Given the description of an element on the screen output the (x, y) to click on. 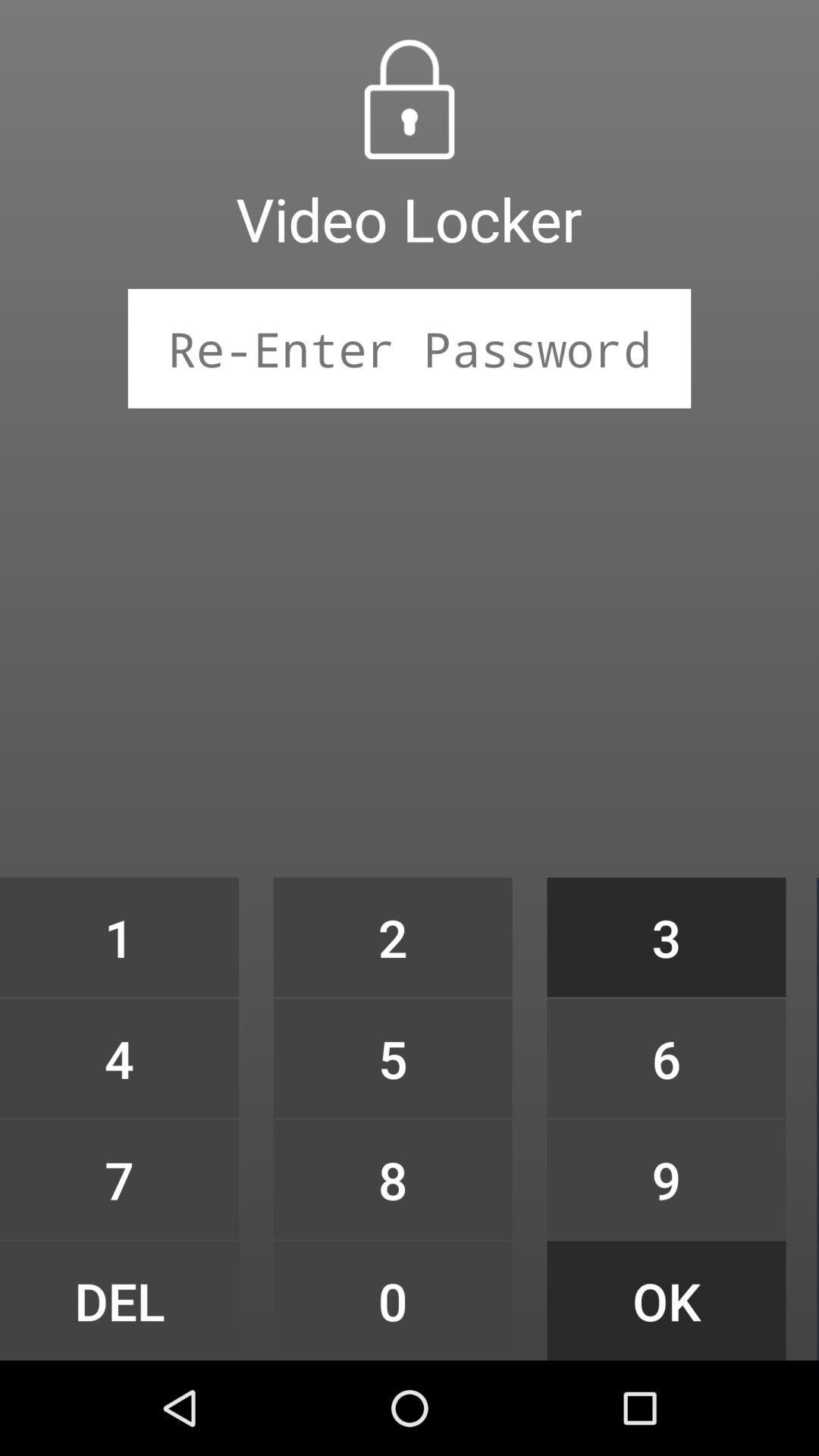
press icon to the left of the 9 icon (392, 1300)
